Given the description of an element on the screen output the (x, y) to click on. 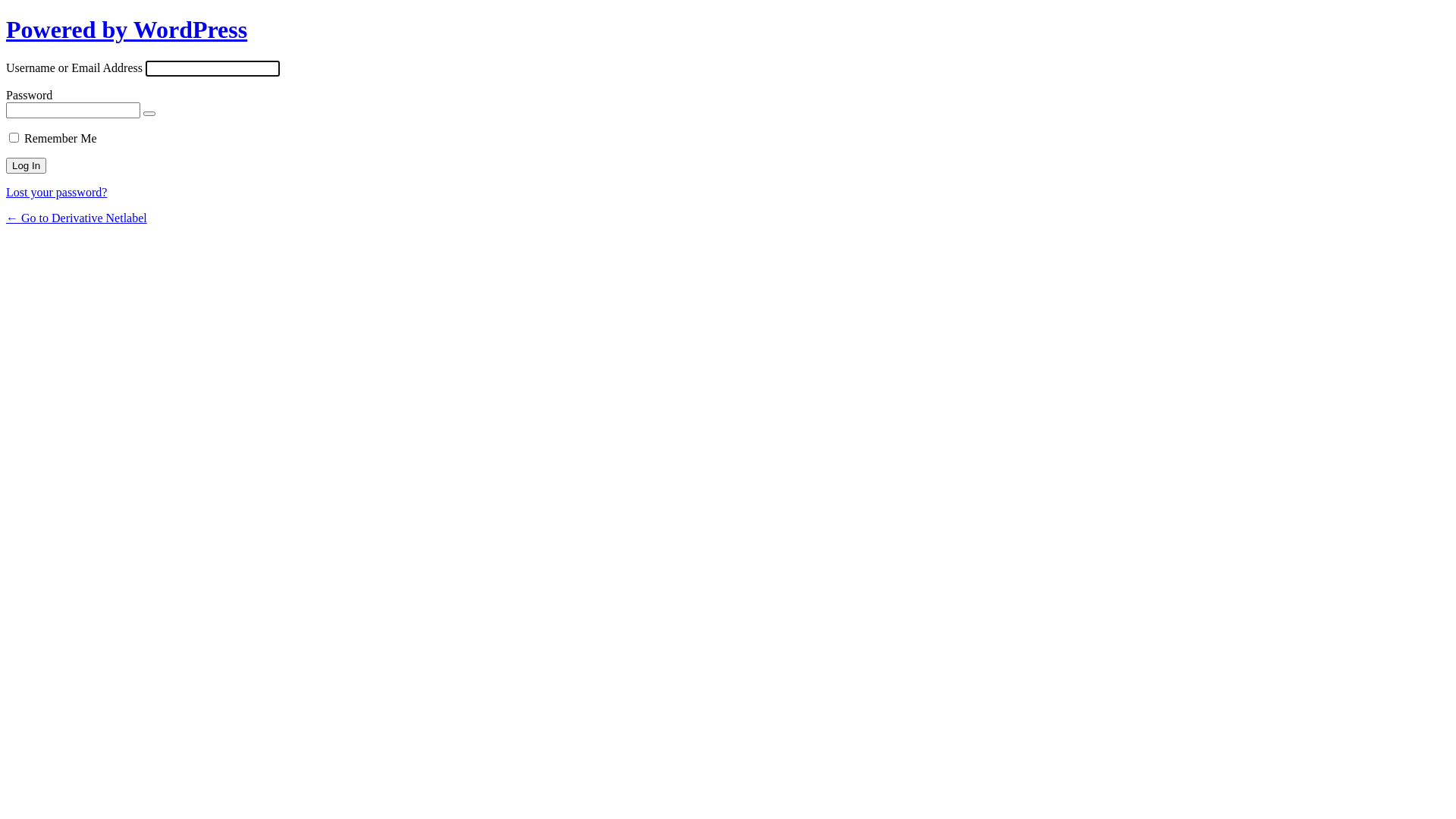
Lost your password? Element type: text (56, 191)
Log In Element type: text (26, 165)
Powered by WordPress Element type: text (126, 29)
